Given the description of an element on the screen output the (x, y) to click on. 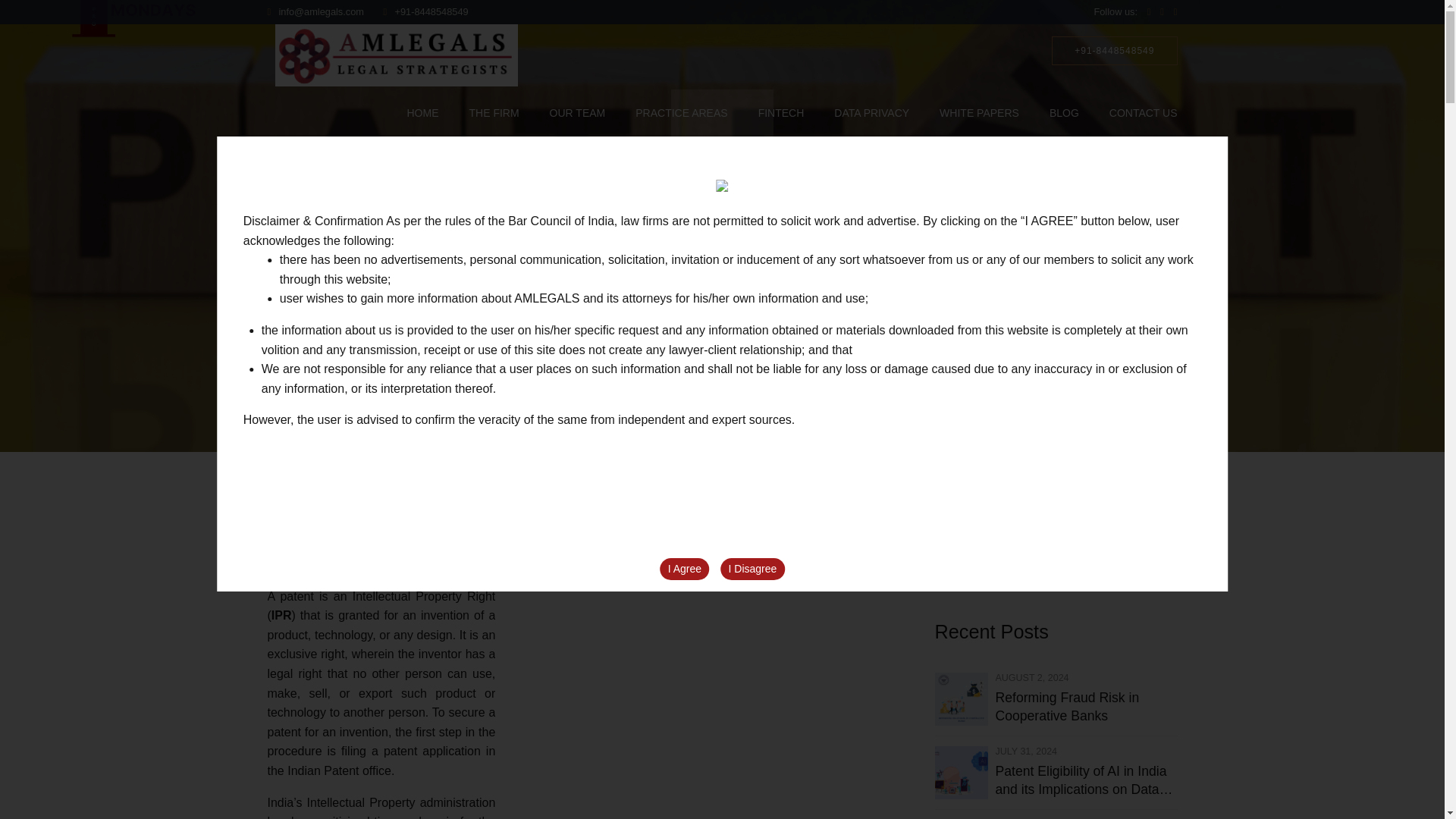
CONTACT US (1143, 112)
DATA PRIVACY (871, 112)
0 (793, 327)
Reforming Fraud Risk in Cooperative Banks (1085, 706)
WHITE PAPERS (979, 112)
THE FIRM (493, 112)
OUR TEAM (577, 112)
Reforming Fraud Risk in Cooperative Banks (1085, 706)
PRACTICE AREAS (680, 112)
